Given the description of an element on the screen output the (x, y) to click on. 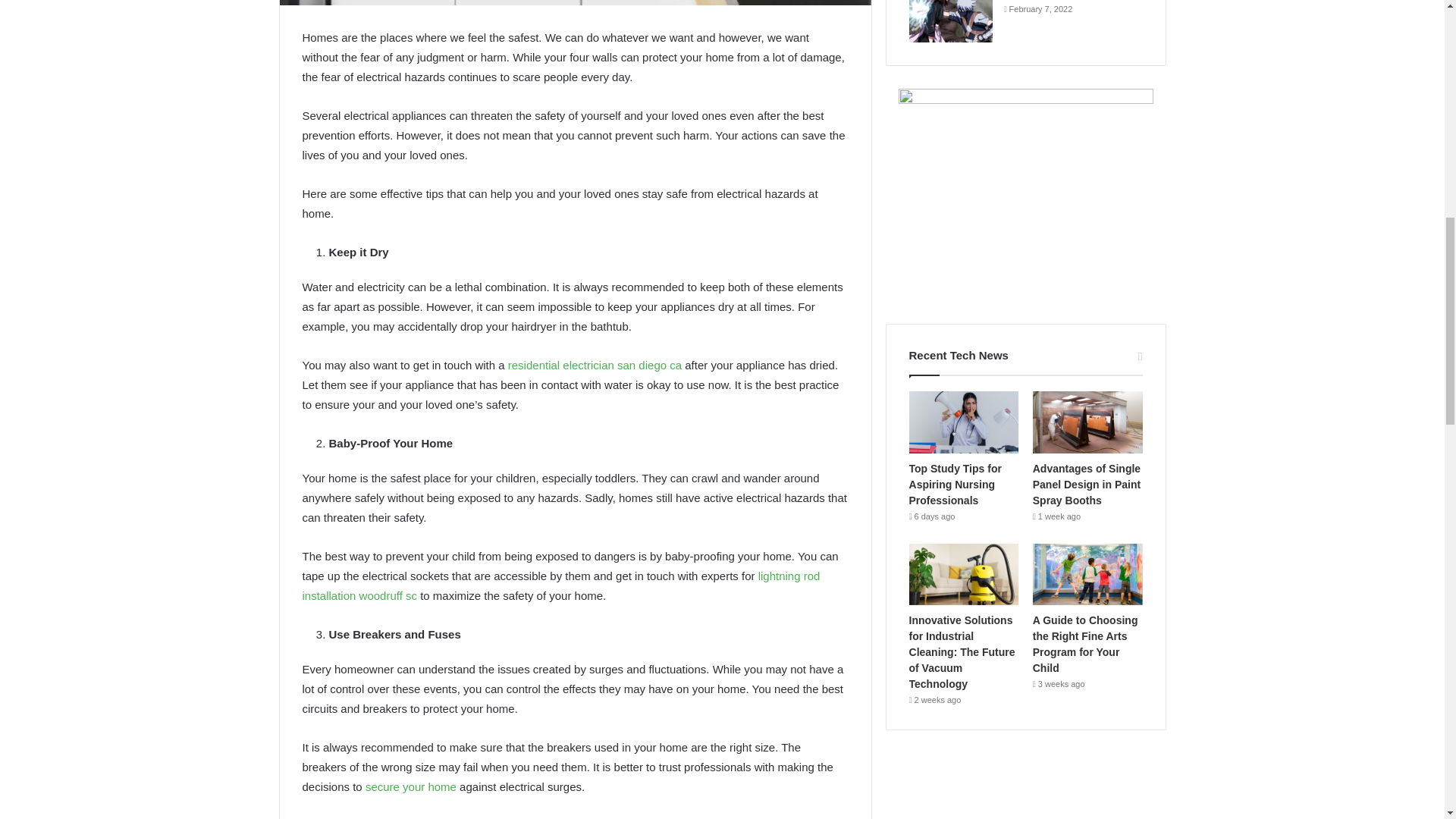
residential electrician san diego ca (594, 364)
secure your home (411, 786)
lightning rod installation woodruff sc (560, 585)
